Given the description of an element on the screen output the (x, y) to click on. 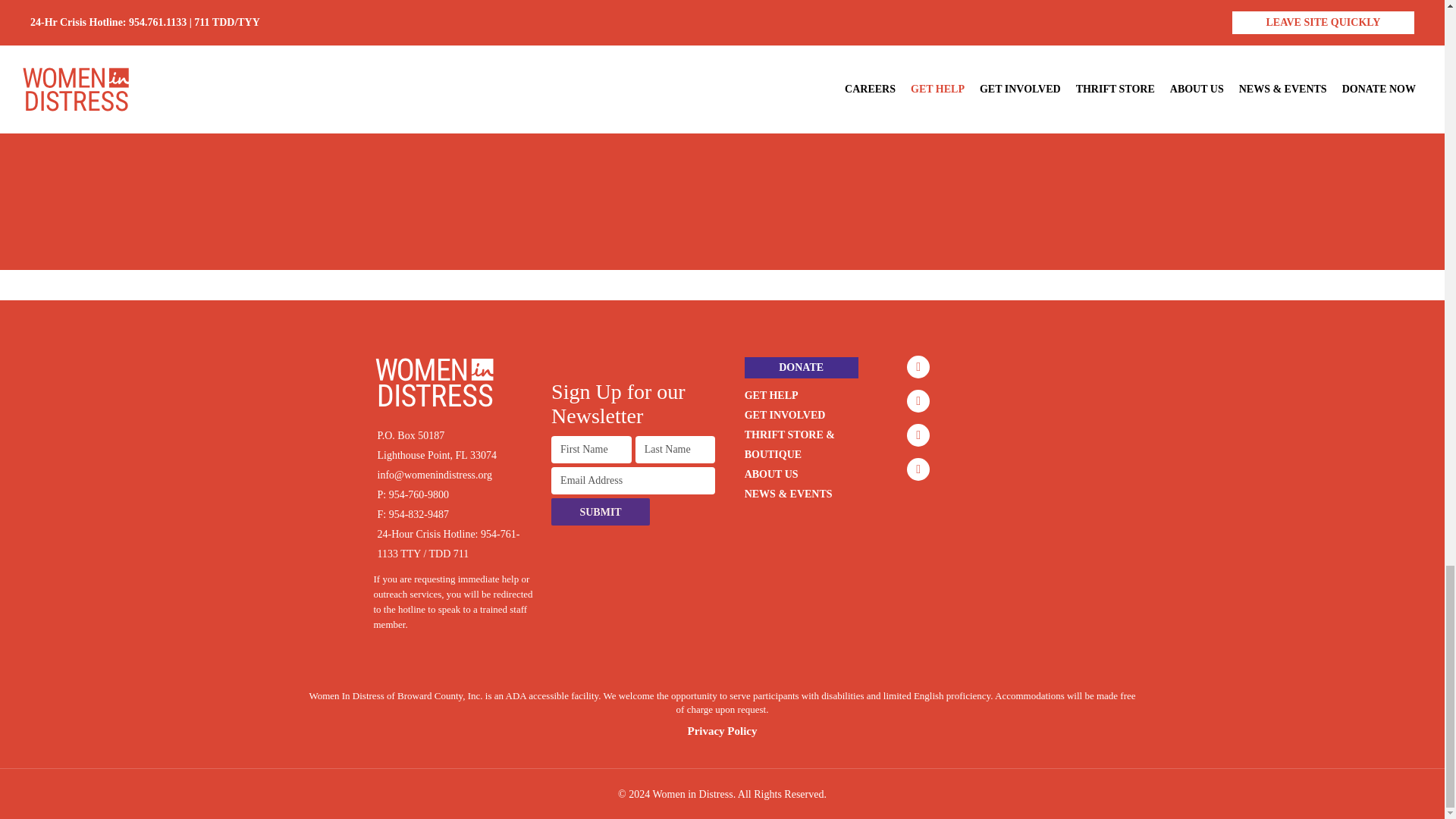
First Name (591, 449)
Submit (600, 511)
Last Name (675, 449)
Email Address (632, 480)
